Given the description of an element on the screen output the (x, y) to click on. 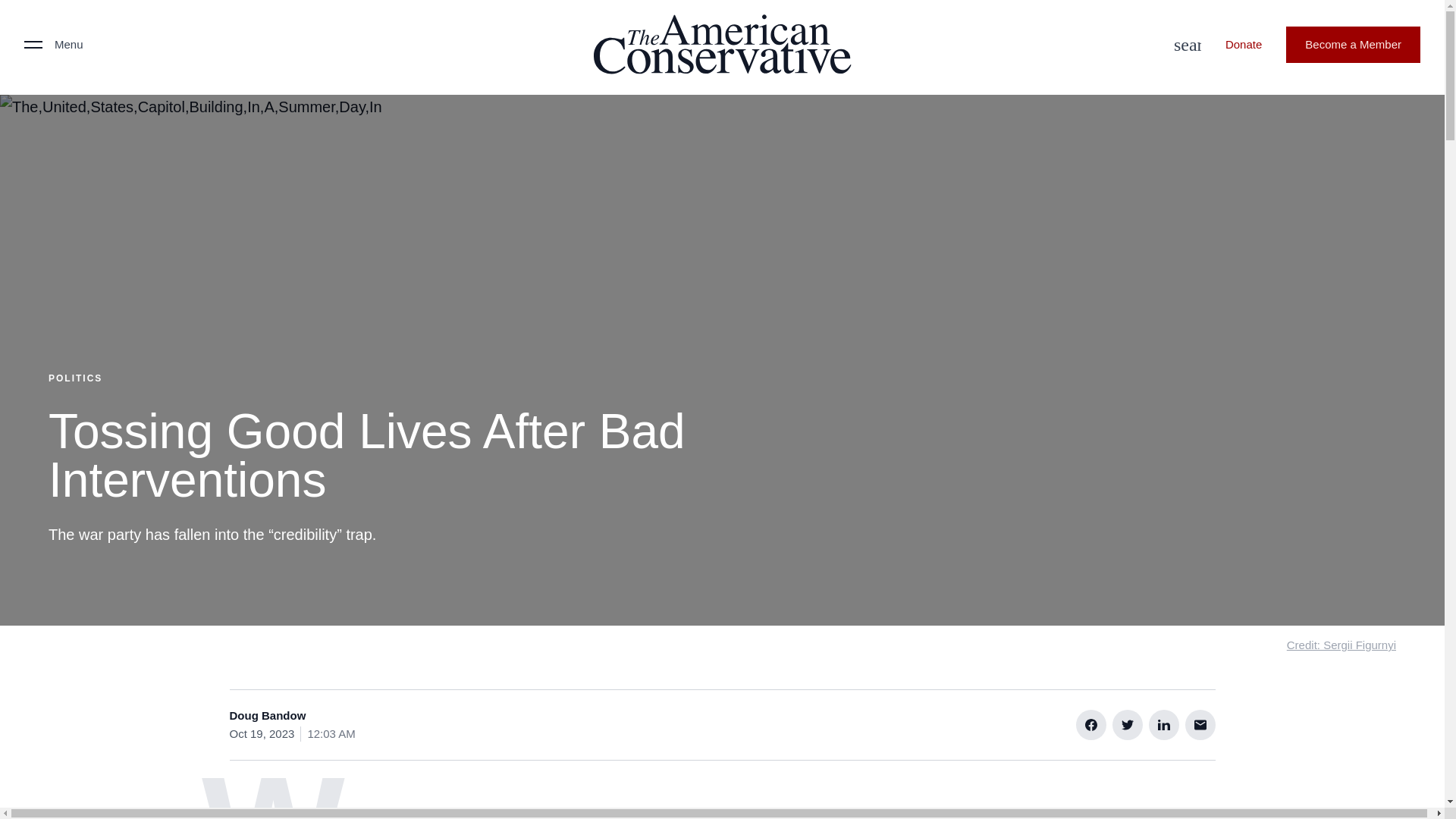
Become a Member (1353, 44)
search (1182, 44)
Credit: Sergii Figurnyi (1341, 644)
Menu (53, 44)
Doug Bandow (266, 715)
Donate (1243, 44)
